Given the description of an element on the screen output the (x, y) to click on. 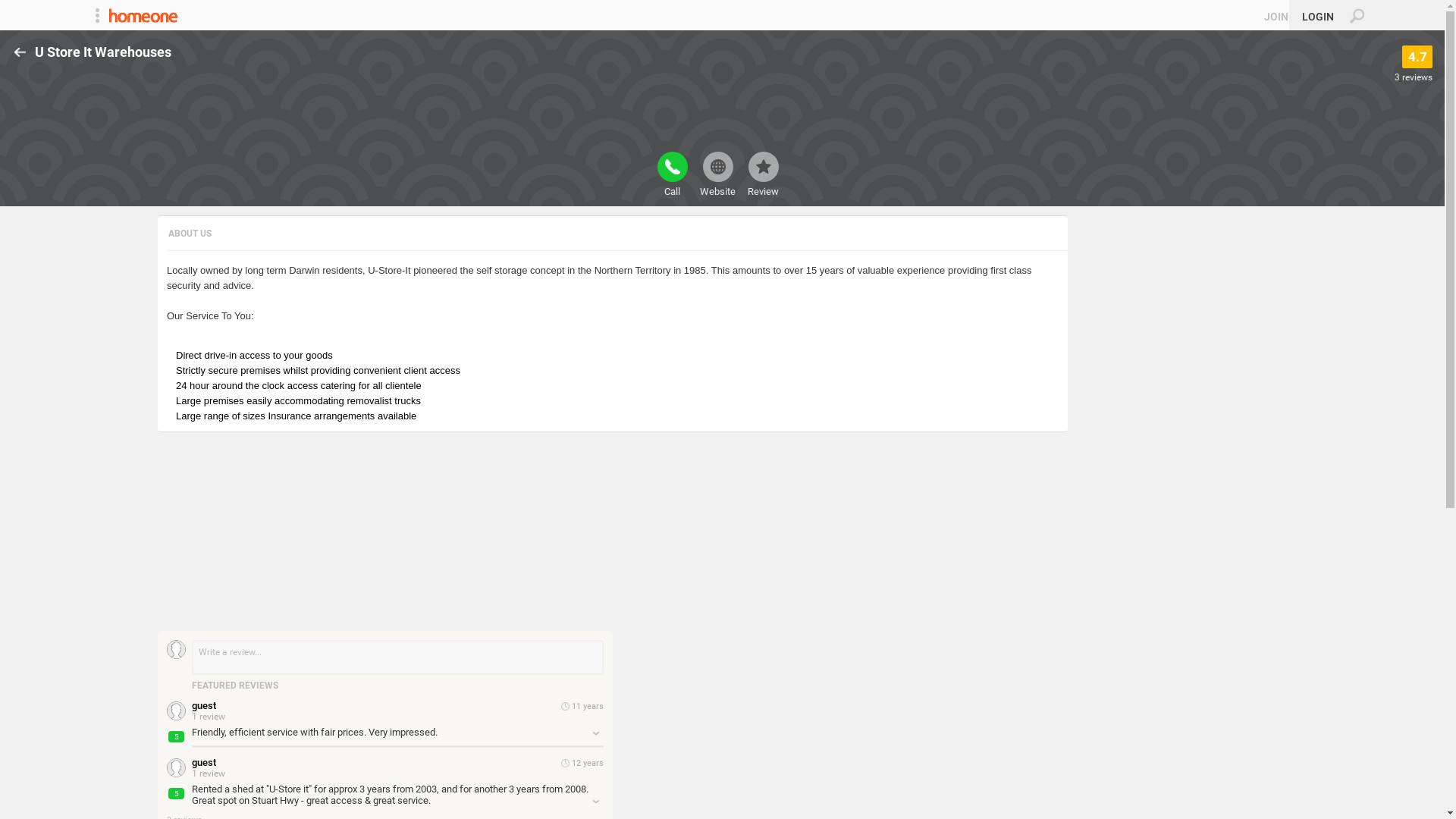
Submit Element type: text (18, 8)
4.7
3 reviews Element type: text (1413, 63)
Website Element type: text (717, 174)
Call Element type: text (671, 174)
